Given the description of an element on the screen output the (x, y) to click on. 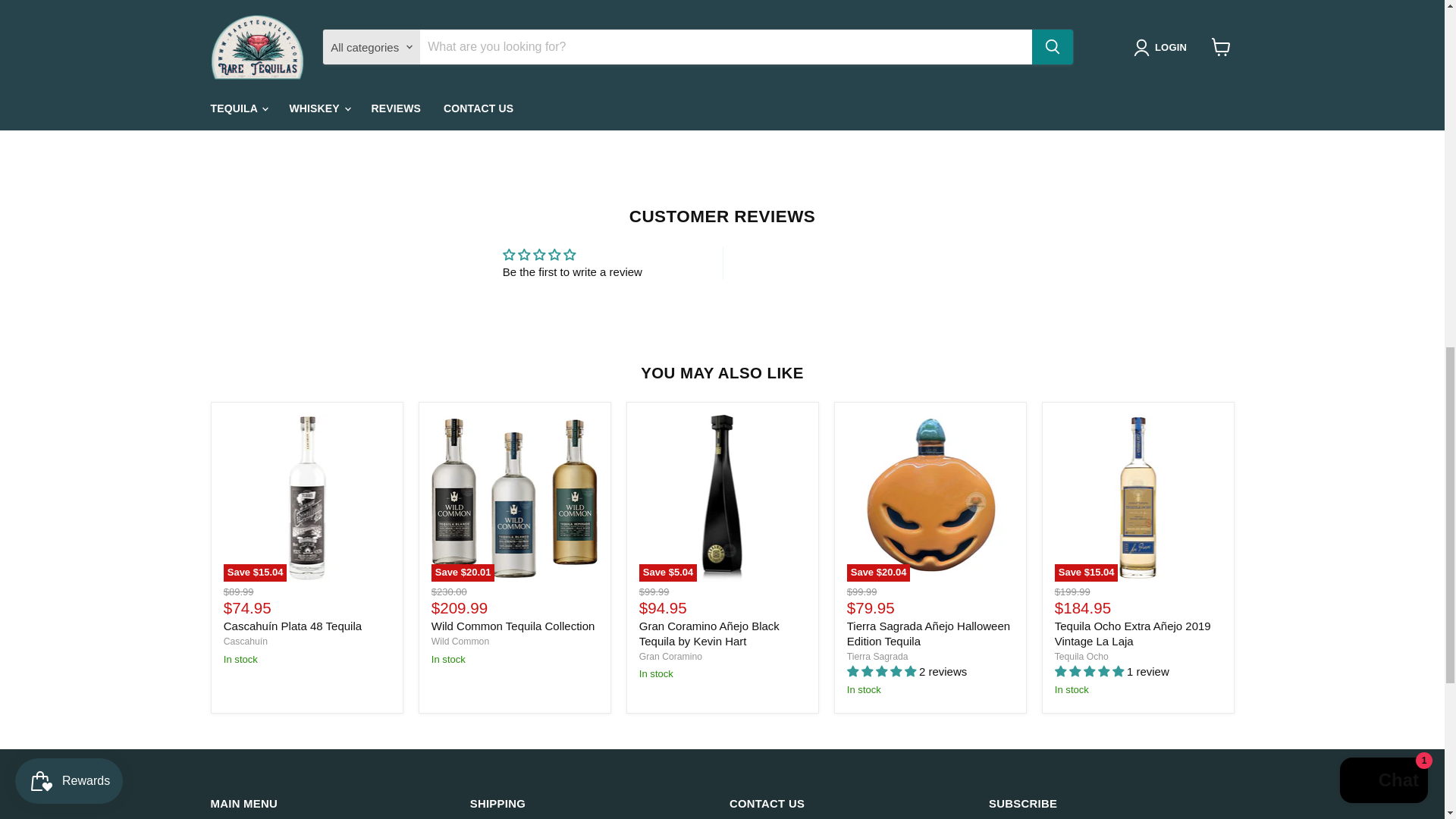
Tierra Sagrada (877, 656)
Tequila Ocho (1081, 656)
Gran Coramino (670, 656)
Wild Common (459, 641)
1 (838, 3)
